Given the description of an element on the screen output the (x, y) to click on. 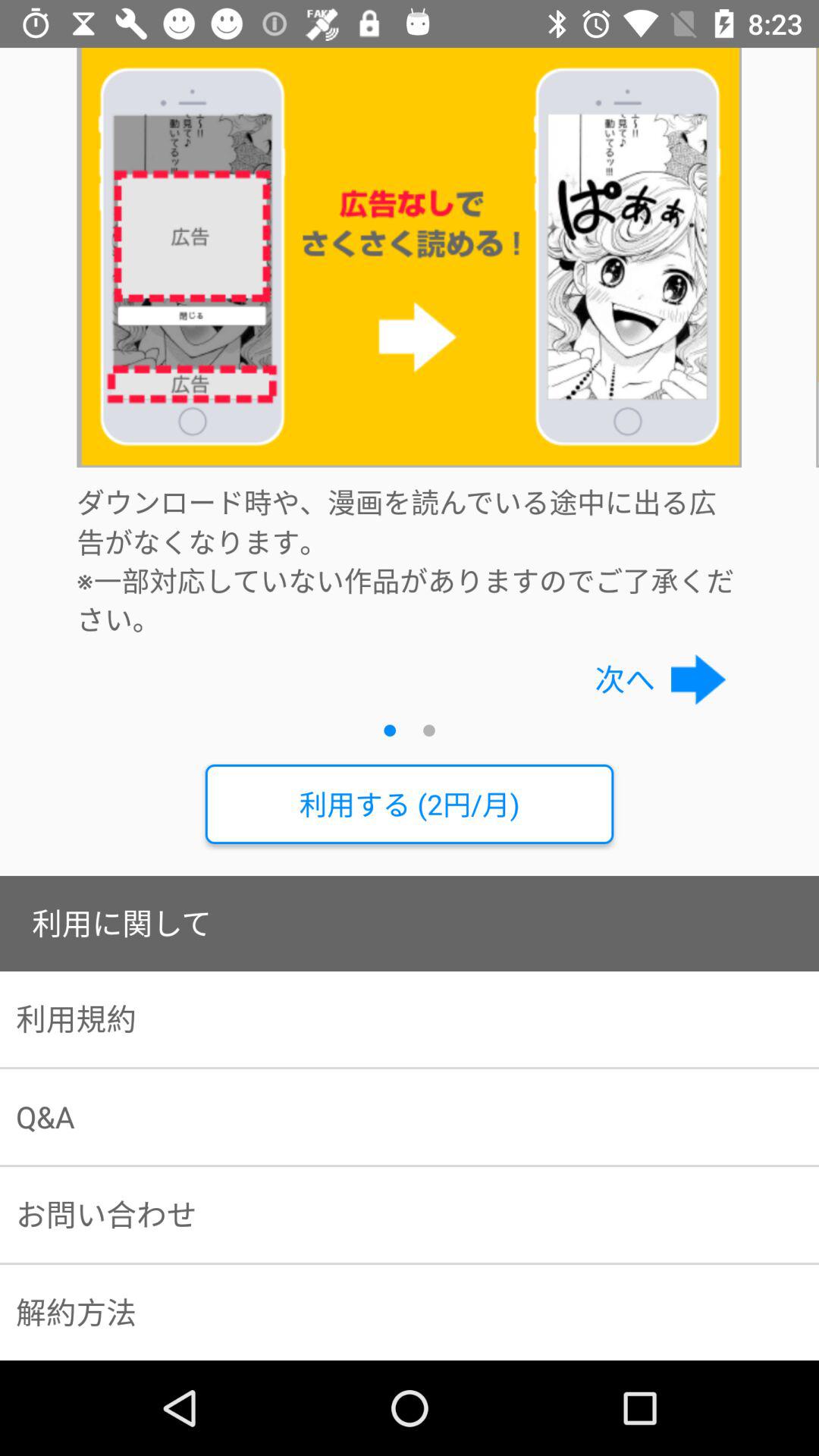
swipe until the q&a icon (409, 1116)
